Given the description of an element on the screen output the (x, y) to click on. 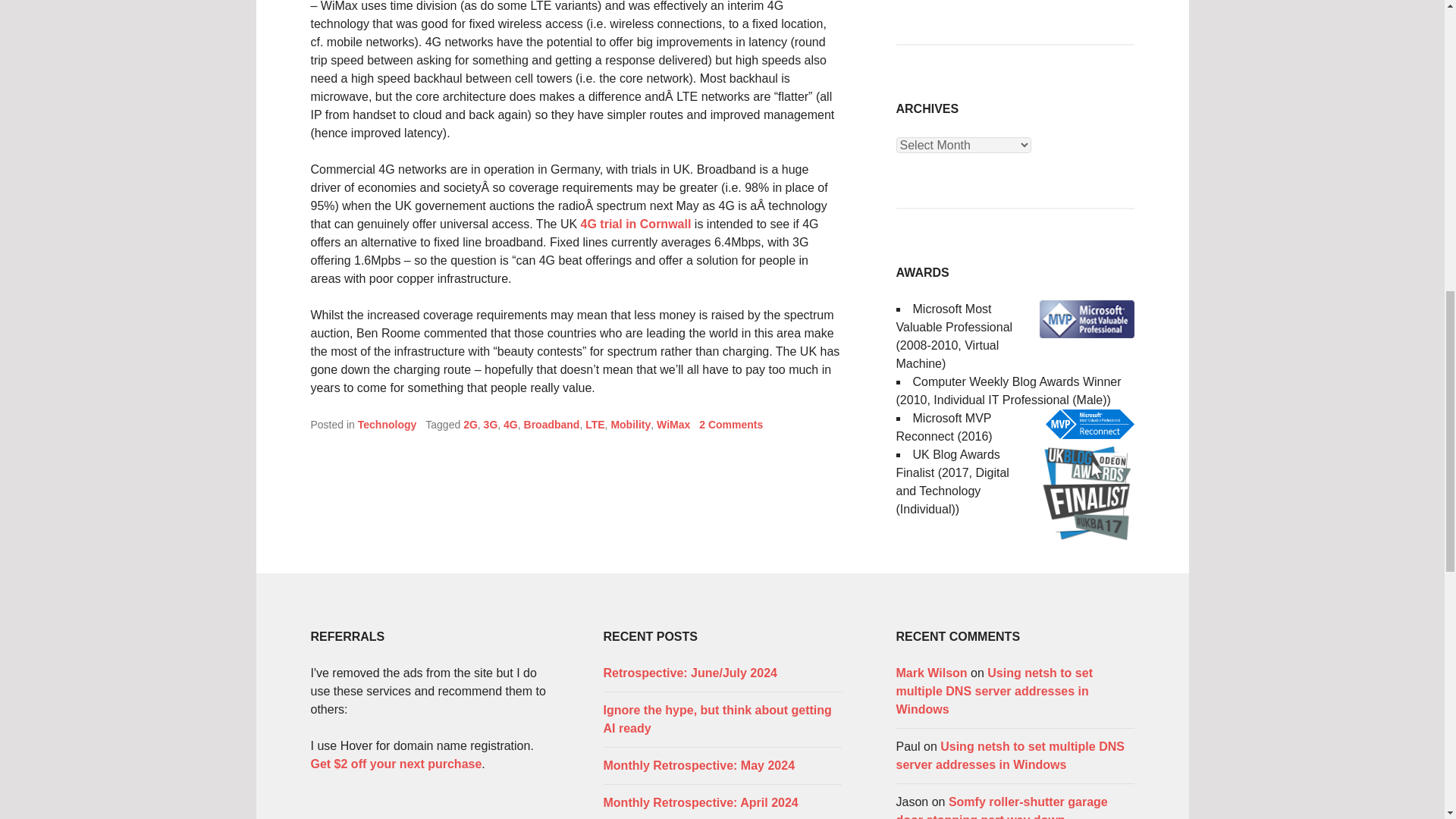
4G (510, 424)
2G (470, 424)
Technology (387, 424)
3G (490, 424)
Mobility (630, 424)
2 Comments (730, 424)
Broadband (551, 424)
4G trial in Cornwall (635, 223)
WiMax (673, 424)
LTE (594, 424)
